Given the description of an element on the screen output the (x, y) to click on. 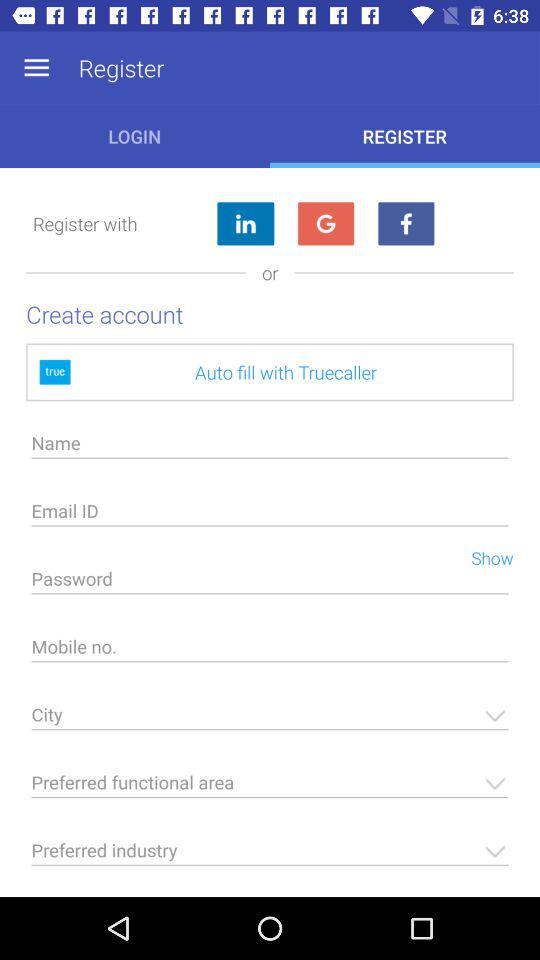
select icon next to register app (36, 68)
